Given the description of an element on the screen output the (x, y) to click on. 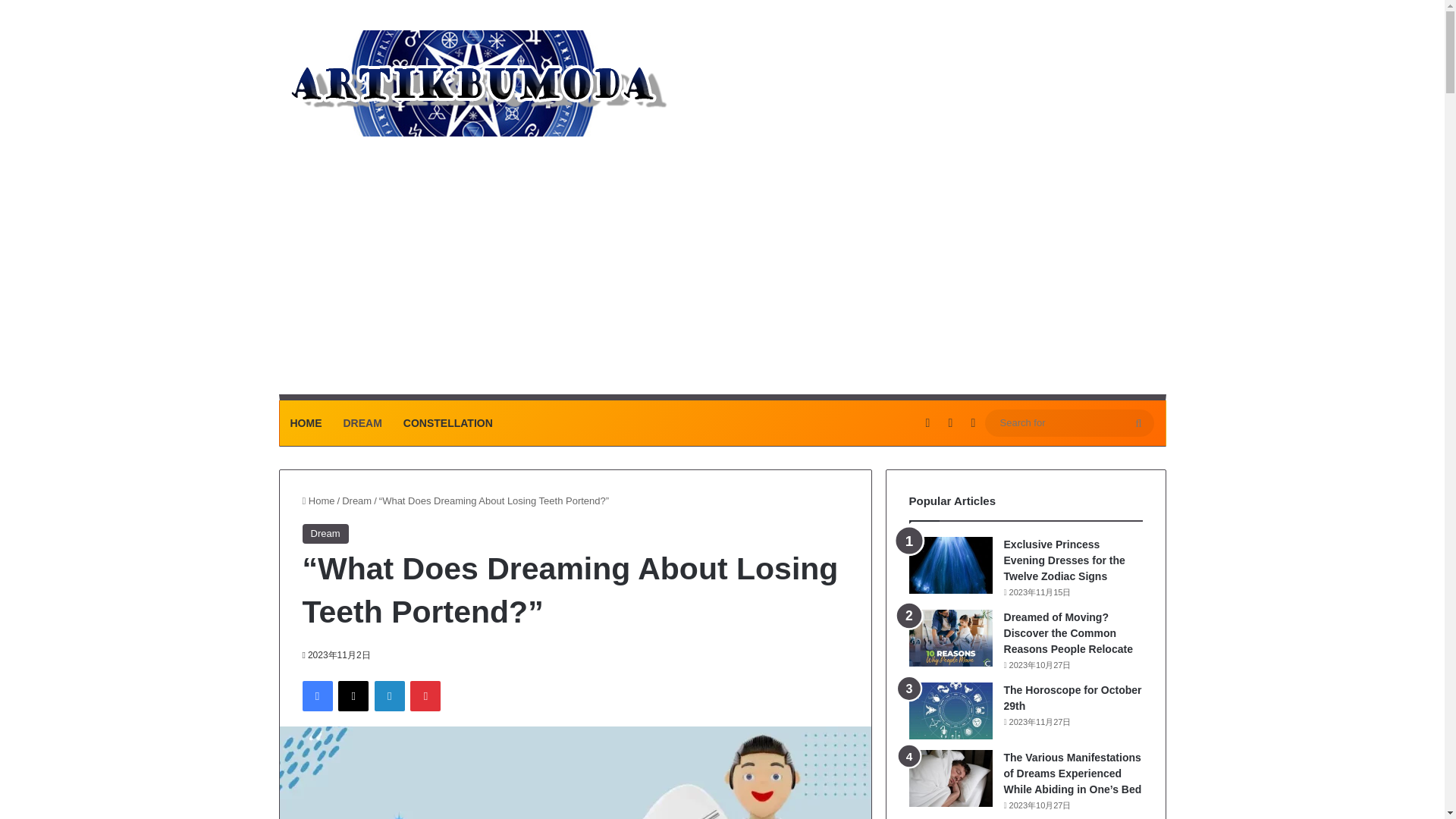
Random Article (927, 422)
LinkedIn (389, 695)
LinkedIn (389, 695)
Switch skin (972, 422)
CONSTELLATION (448, 422)
Dream (324, 533)
Switch skin (972, 422)
X (352, 695)
Home (317, 500)
Pinterest (425, 695)
Random Article (927, 422)
X (352, 695)
Artikbumoda (474, 83)
DREAM (361, 422)
